Given the description of an element on the screen output the (x, y) to click on. 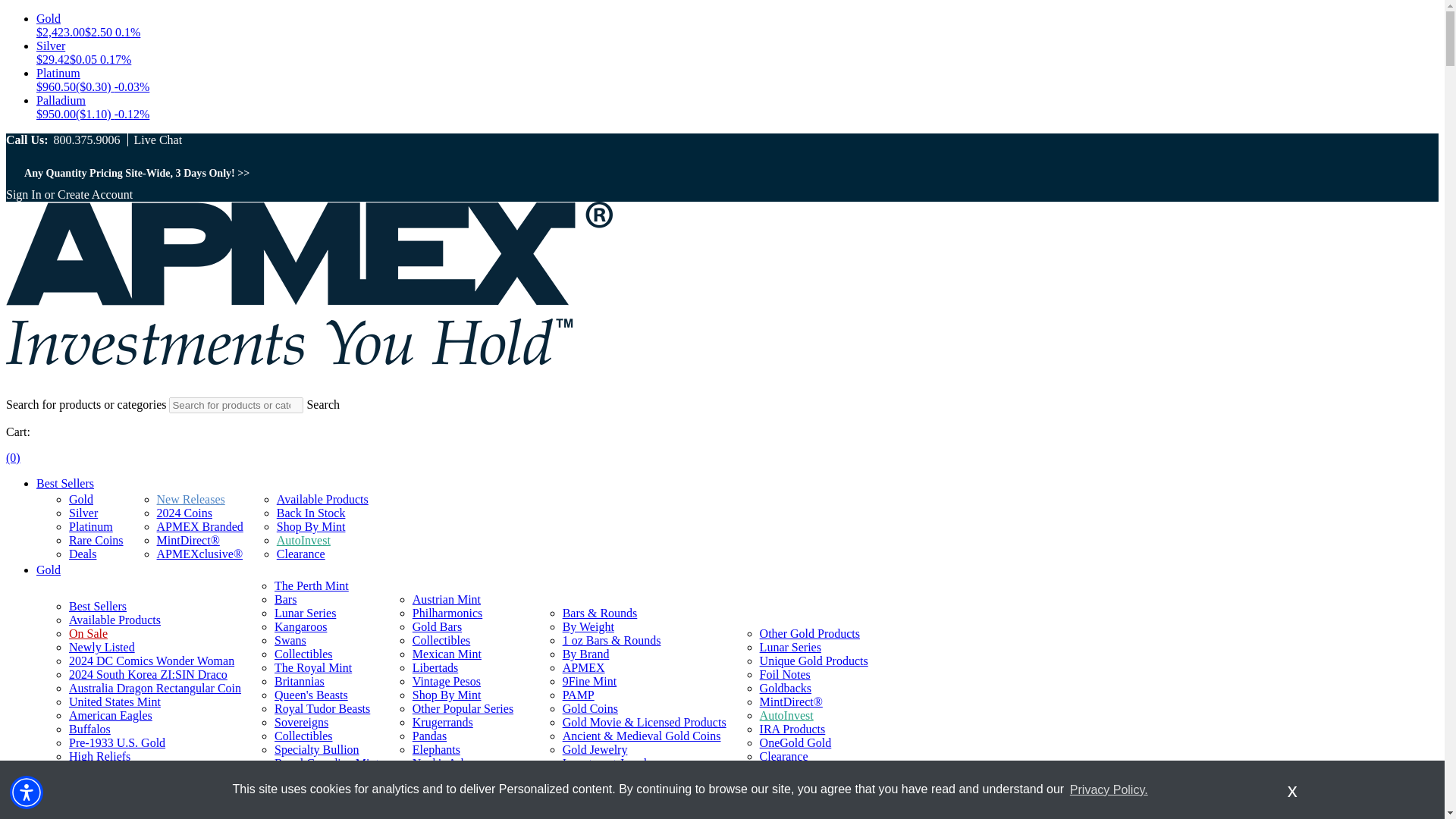
2024 Coins (184, 512)
Create Account (95, 194)
Gold (48, 569)
Silver (82, 512)
Gold (80, 499)
Deals (82, 553)
Privacy Policy. (1108, 789)
800.375.9006 (85, 139)
Best Sellers (97, 605)
On Sale (87, 633)
x (1291, 789)
2024 DC Comics Wonder Woman (151, 660)
Shop By Mint (311, 526)
Available Products (114, 619)
